Given the description of an element on the screen output the (x, y) to click on. 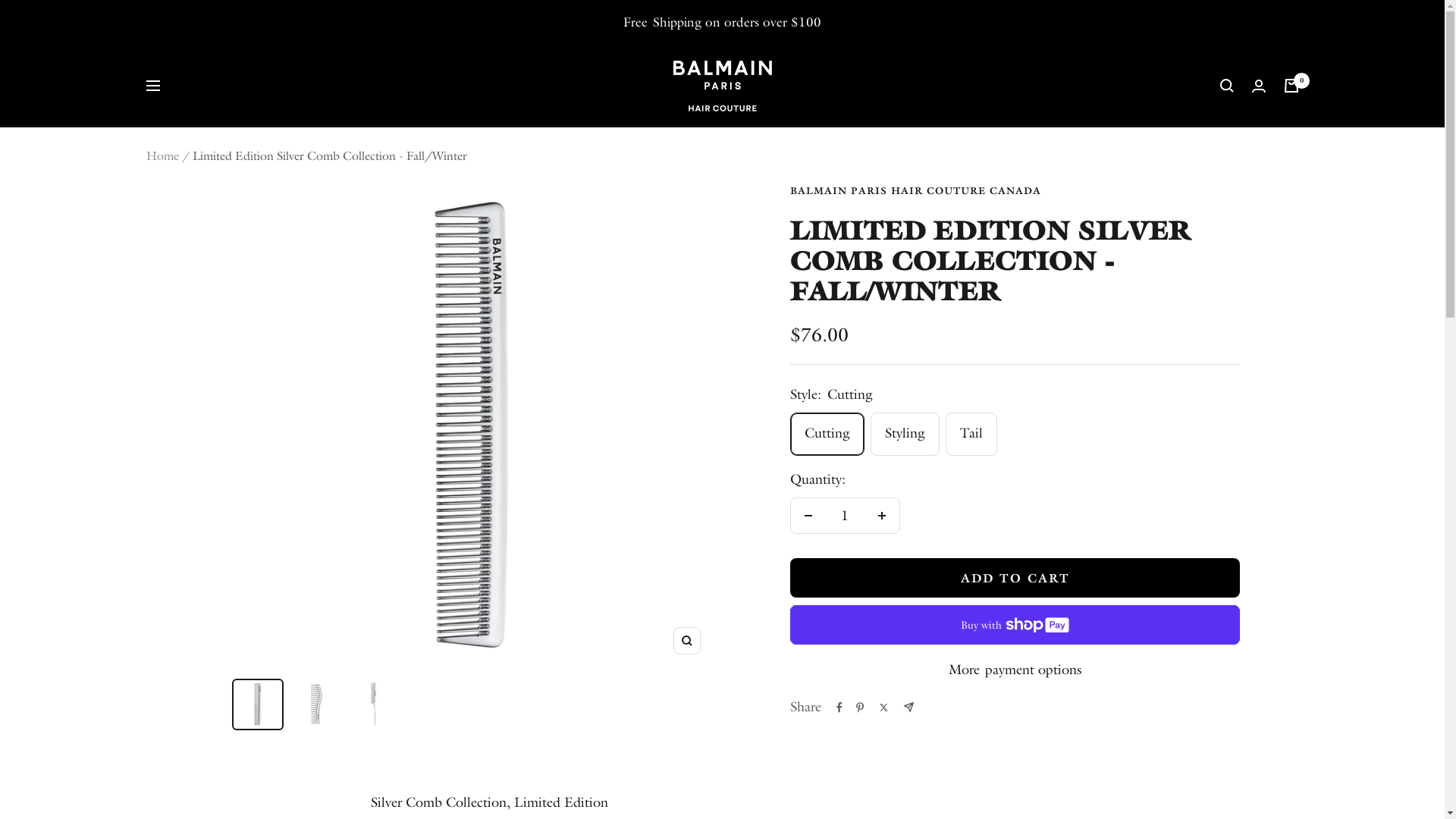
Cutting Element type: text (1072, 135)
BALMAIN HAIR CANADA Element type: text (722, 85)
Home Element type: text (161, 155)
Increase quantity Element type: text (881, 515)
Zoom Element type: text (686, 640)
ADD TO CART Element type: text (1015, 577)
Styling Element type: text (1072, 170)
Decrease quantity Element type: text (807, 515)
0 Element type: text (1290, 85)
Navigation Element type: text (152, 85)
BALMAIN PARIS HAIR COUTURE CANADA Element type: text (915, 190)
More payment options Element type: text (1015, 669)
Tail Element type: text (1072, 207)
